Given the description of an element on the screen output the (x, y) to click on. 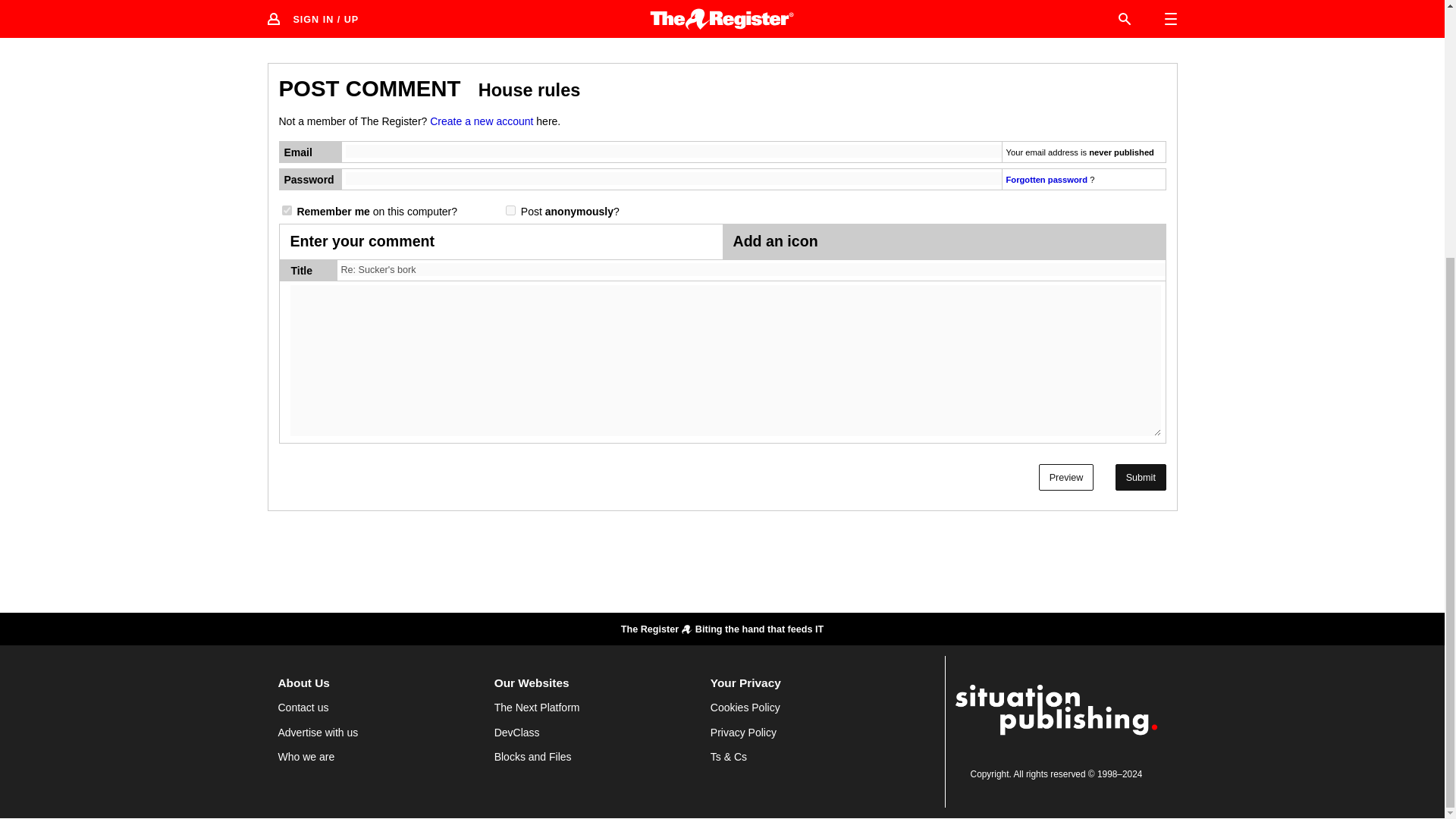
1 (287, 210)
Re: Sucker's bork (753, 269)
1 (510, 210)
Preview (1066, 477)
Submit (1140, 477)
